Given the description of an element on the screen output the (x, y) to click on. 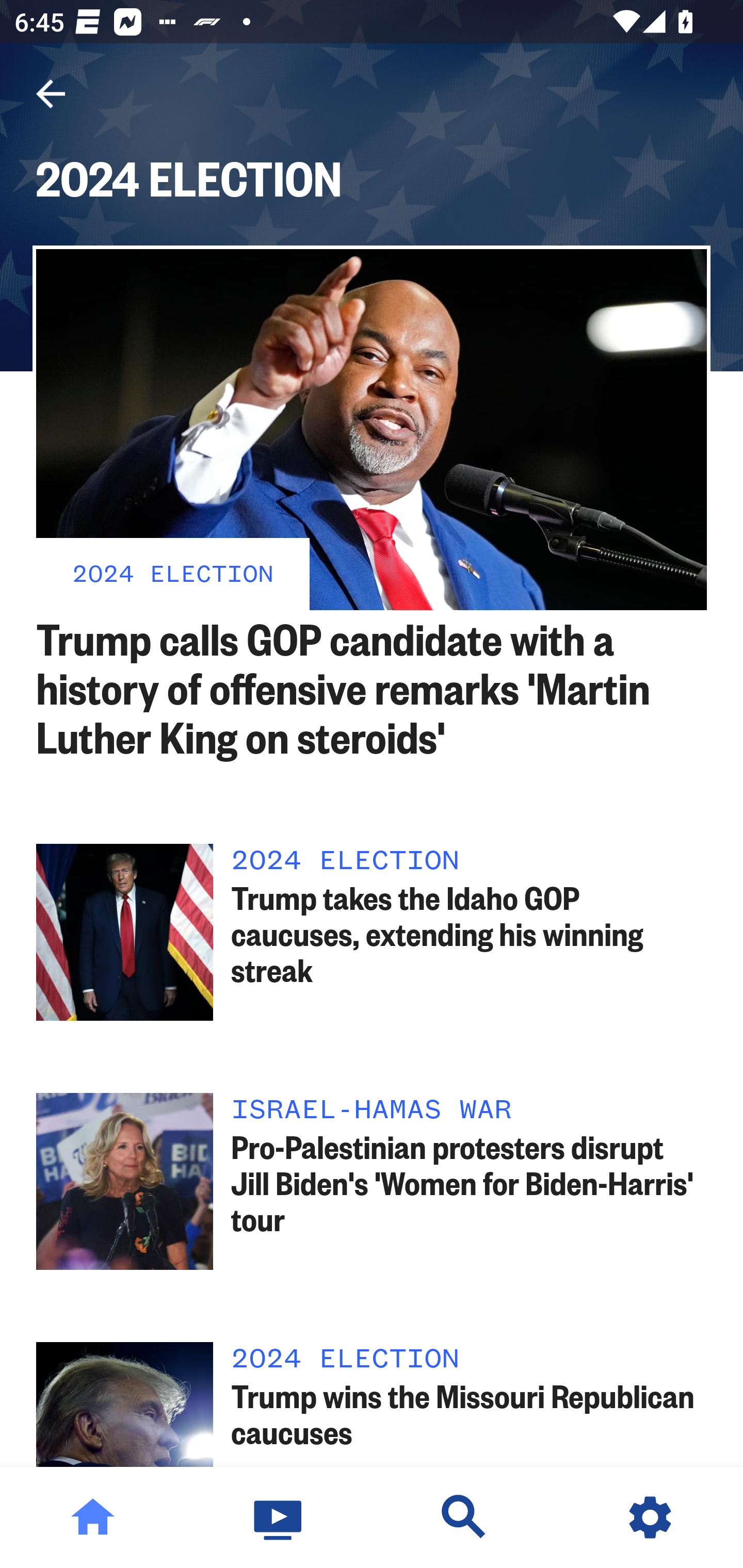
Navigate up (50, 93)
Watch (278, 1517)
Discover (464, 1517)
Settings (650, 1517)
